Given the description of an element on the screen output the (x, y) to click on. 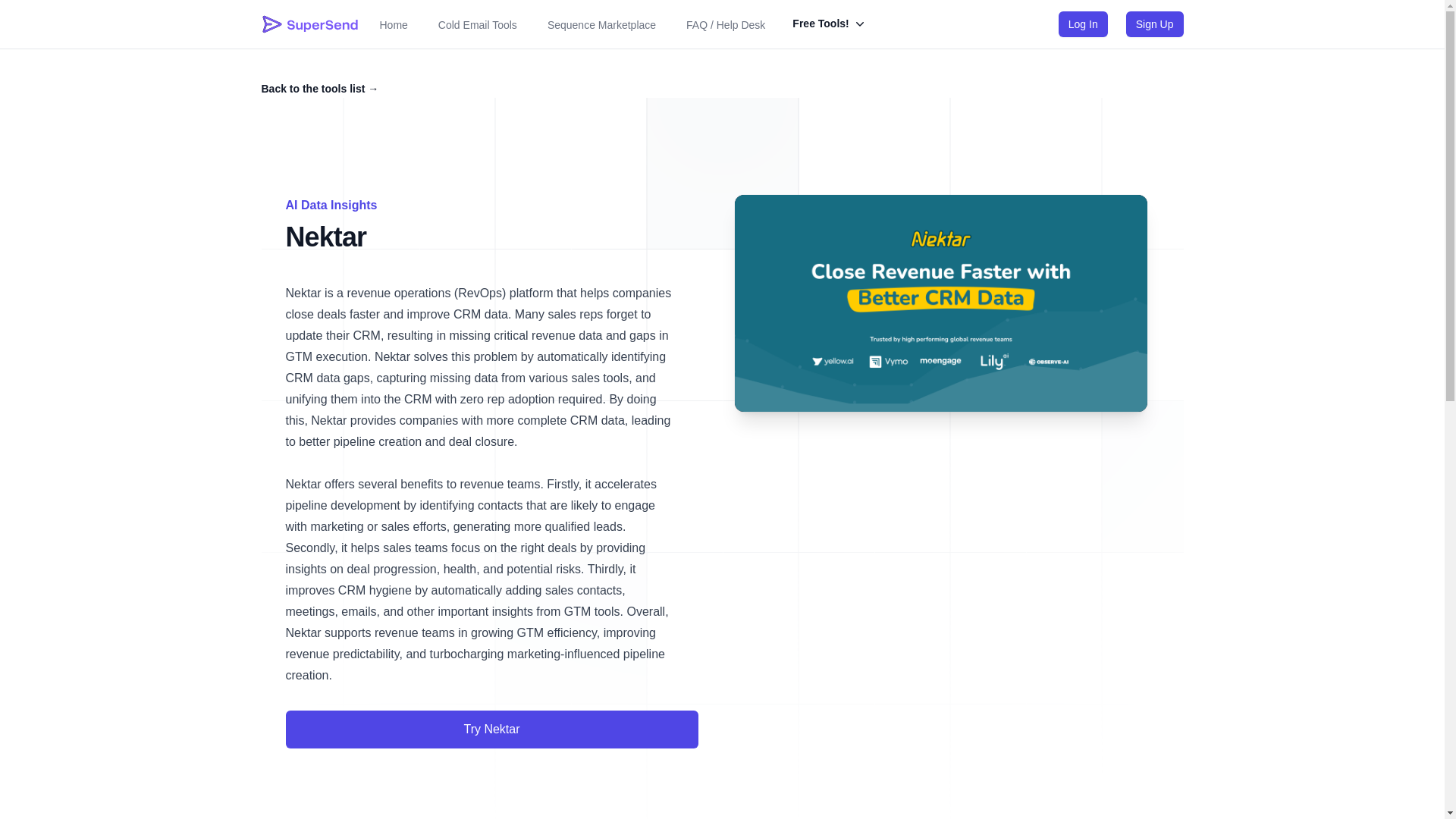
Log In (1083, 23)
Free Tools! (829, 23)
Sequence Marketplace (601, 24)
Try Nektar (491, 729)
Home (392, 24)
Sign Up (1154, 23)
Cold Email Tools (477, 24)
Try Nektar (491, 728)
